Given the description of an element on the screen output the (x, y) to click on. 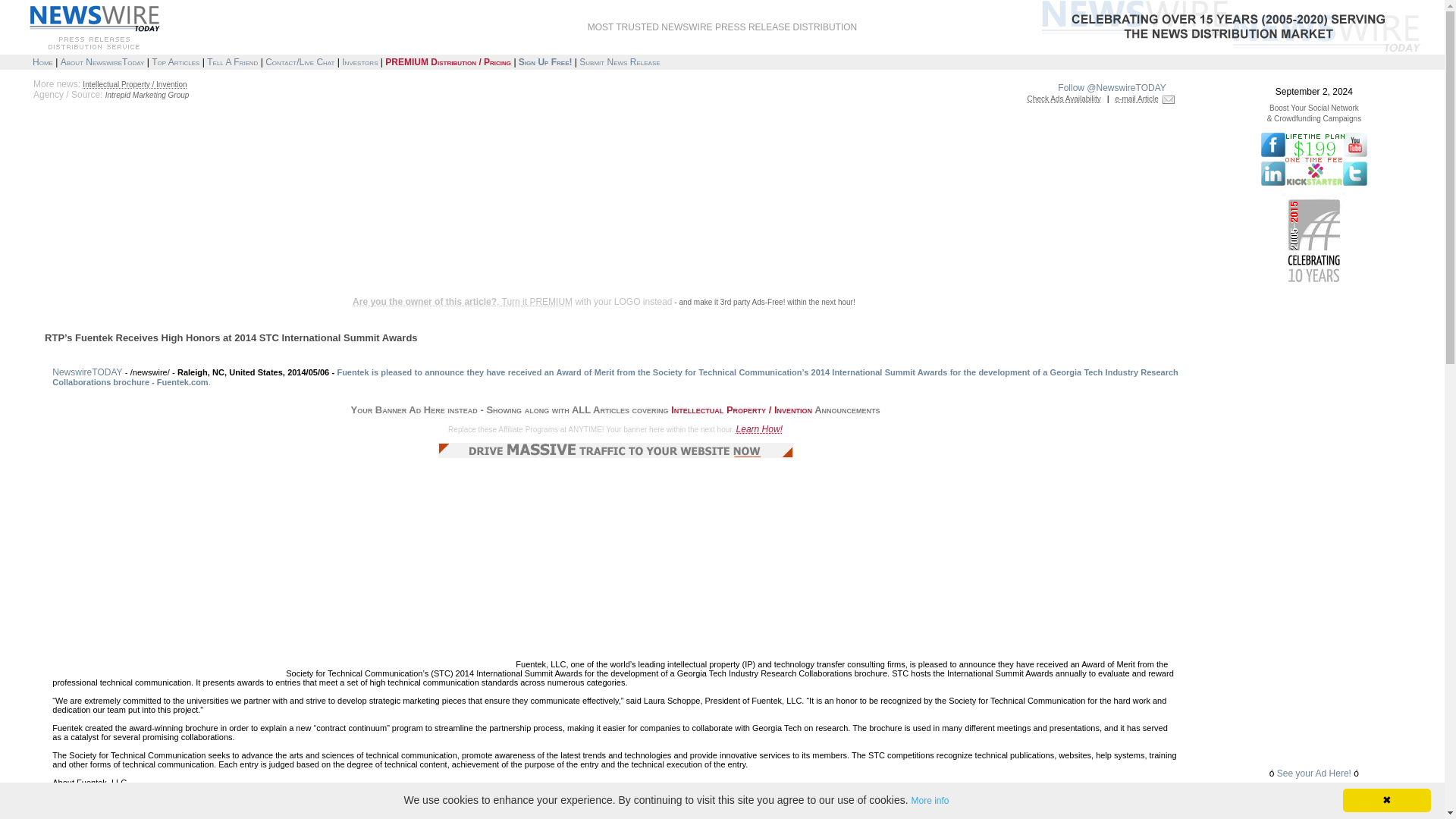
e-mail Article (1136, 98)
Check Ads Availability (1063, 98)
About NewswireToday (102, 61)
NewswireToday Top Releases Article Press Release (175, 61)
About NewswireToday (102, 61)
Tell a friend about NewswireToday (231, 61)
Sign Up FREE! (545, 61)
Home (42, 61)
Sign Up Free! (545, 61)
Submit News Release (619, 61)
